Given the description of an element on the screen output the (x, y) to click on. 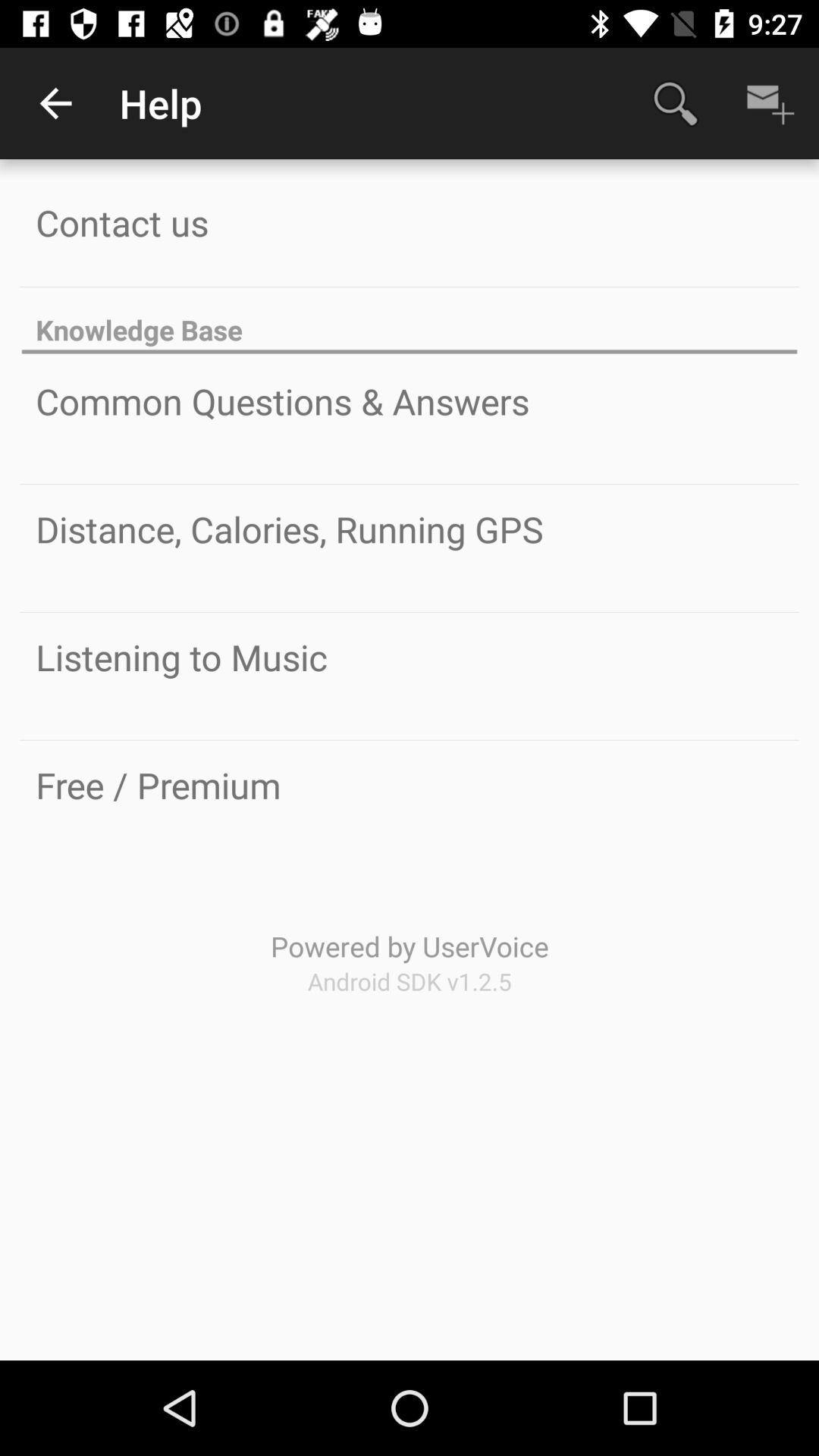
turn on the icon below the knowledge base icon (282, 401)
